Given the description of an element on the screen output the (x, y) to click on. 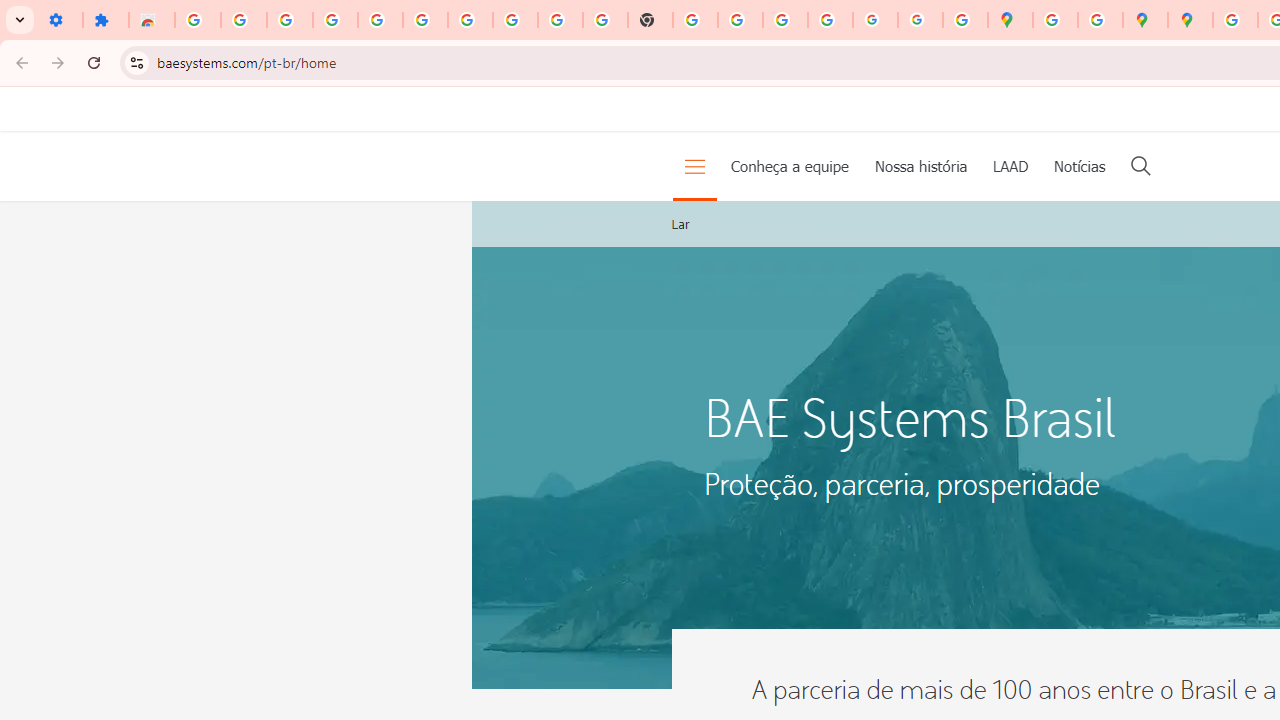
Lar (679, 223)
Delete photos & videos - Computer - Google Photos Help (290, 20)
Settings - On startup (60, 20)
